Given the description of an element on the screen output the (x, y) to click on. 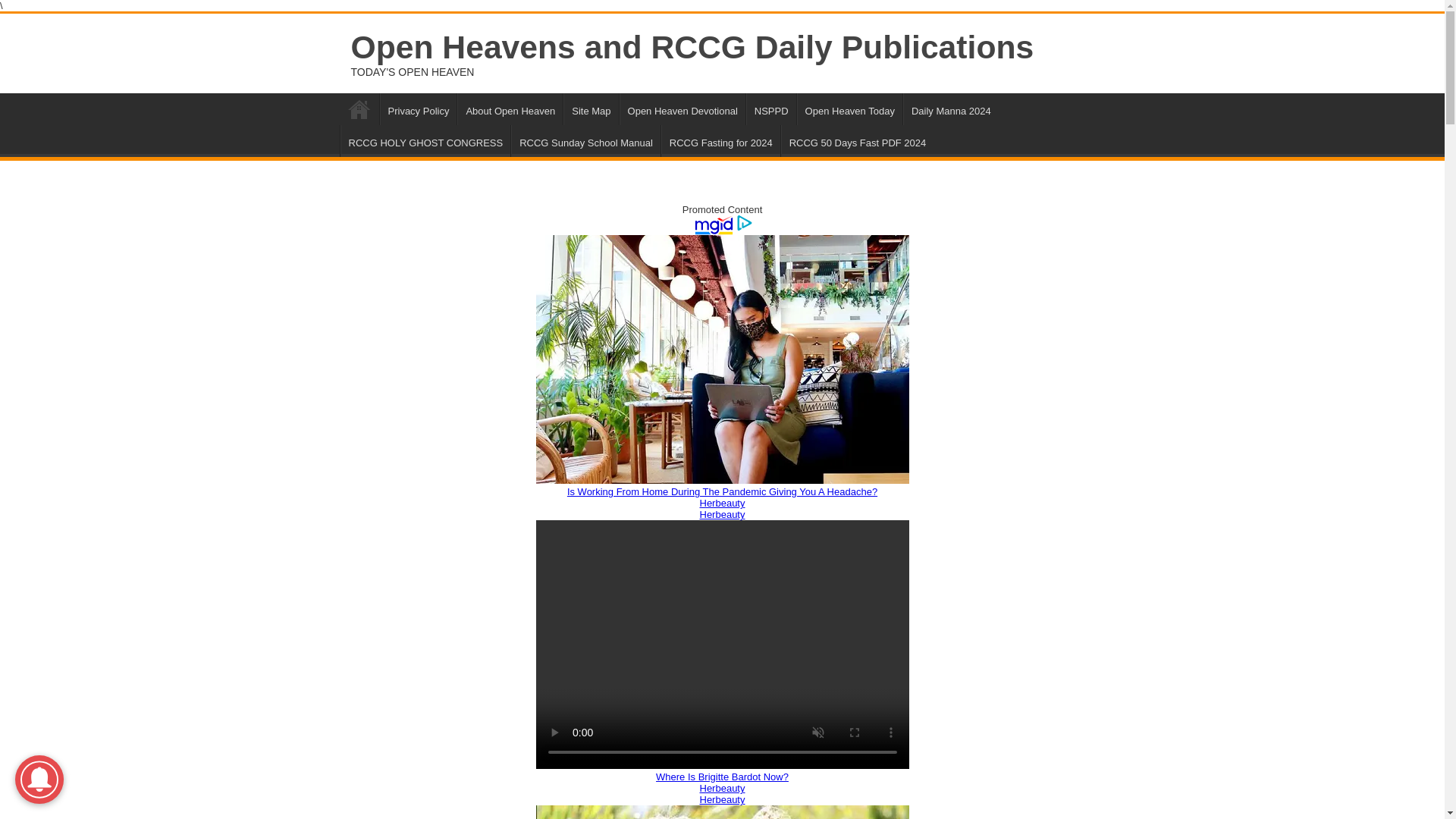
RCCG Sunday School Manual (586, 141)
RCCG HOLY GHOST CONGRESS (425, 141)
RCCG Fasting for 2024 (720, 141)
Daily Manna 2024 (950, 109)
NSPPD (770, 109)
Open Heavens and RCCG Daily Publications (691, 46)
Open Heaven Devotional (682, 109)
Site Map (590, 109)
About Open Heaven (509, 109)
Home (358, 109)
RCCG 50 Days Fast PDF 2024 (857, 141)
Privacy Policy (417, 109)
Open Heaven Today (849, 109)
